Given the description of an element on the screen output the (x, y) to click on. 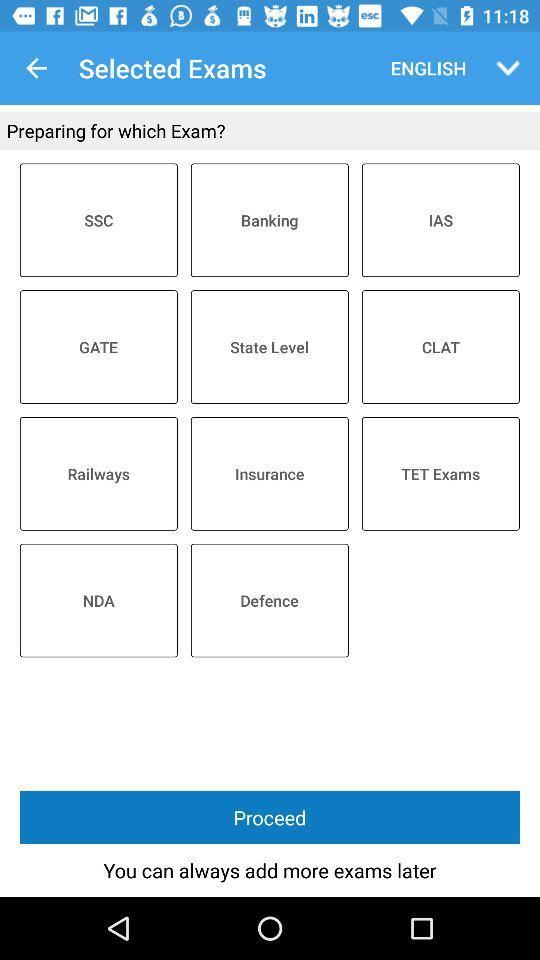
turn on proceed icon (269, 817)
